Given the description of an element on the screen output the (x, y) to click on. 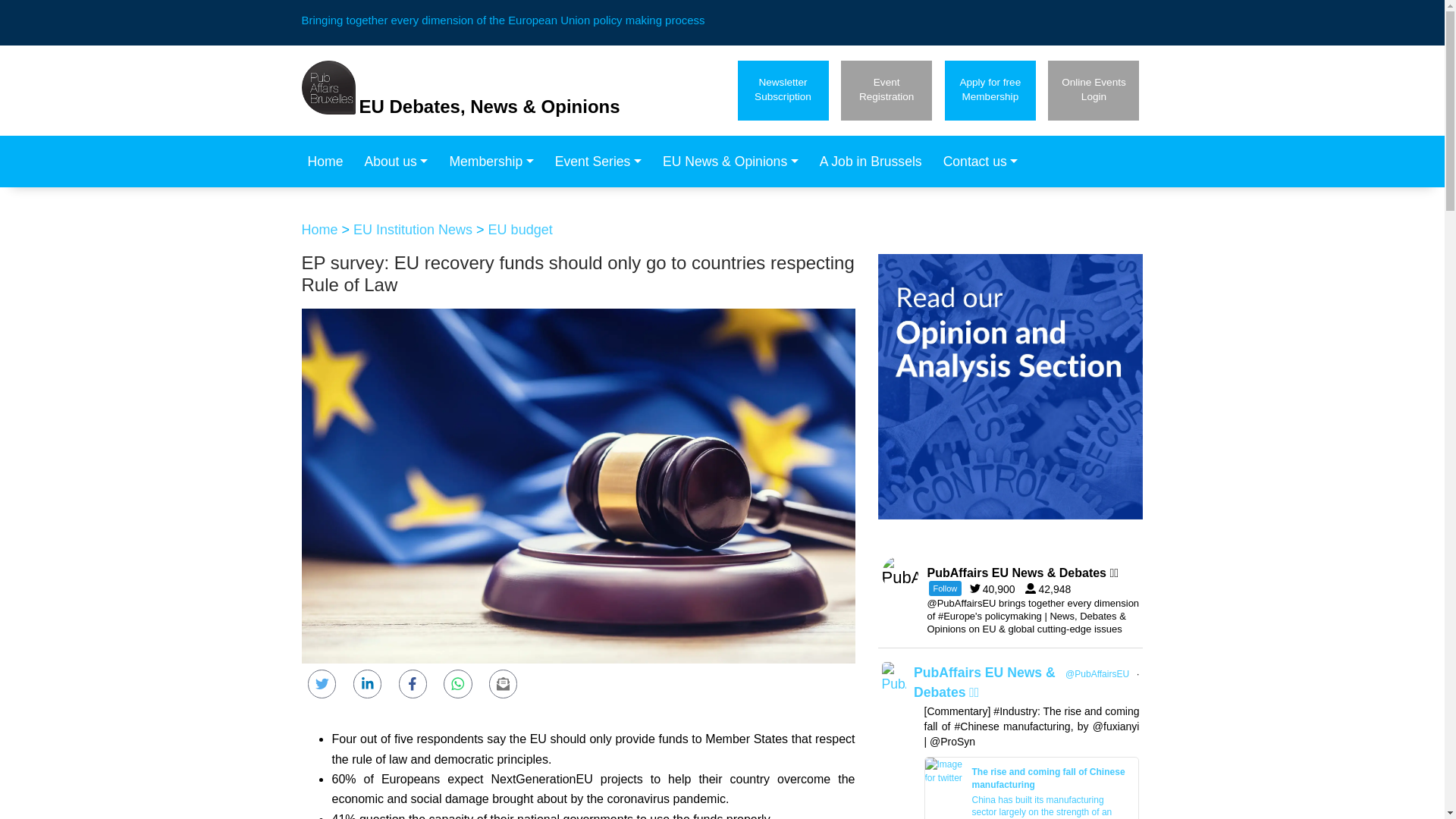
Home (329, 161)
40,900 Tweets (1093, 90)
Event Series (996, 589)
Membership (602, 161)
42,948 Followers (886, 90)
About us (782, 90)
